Given the description of an element on the screen output the (x, y) to click on. 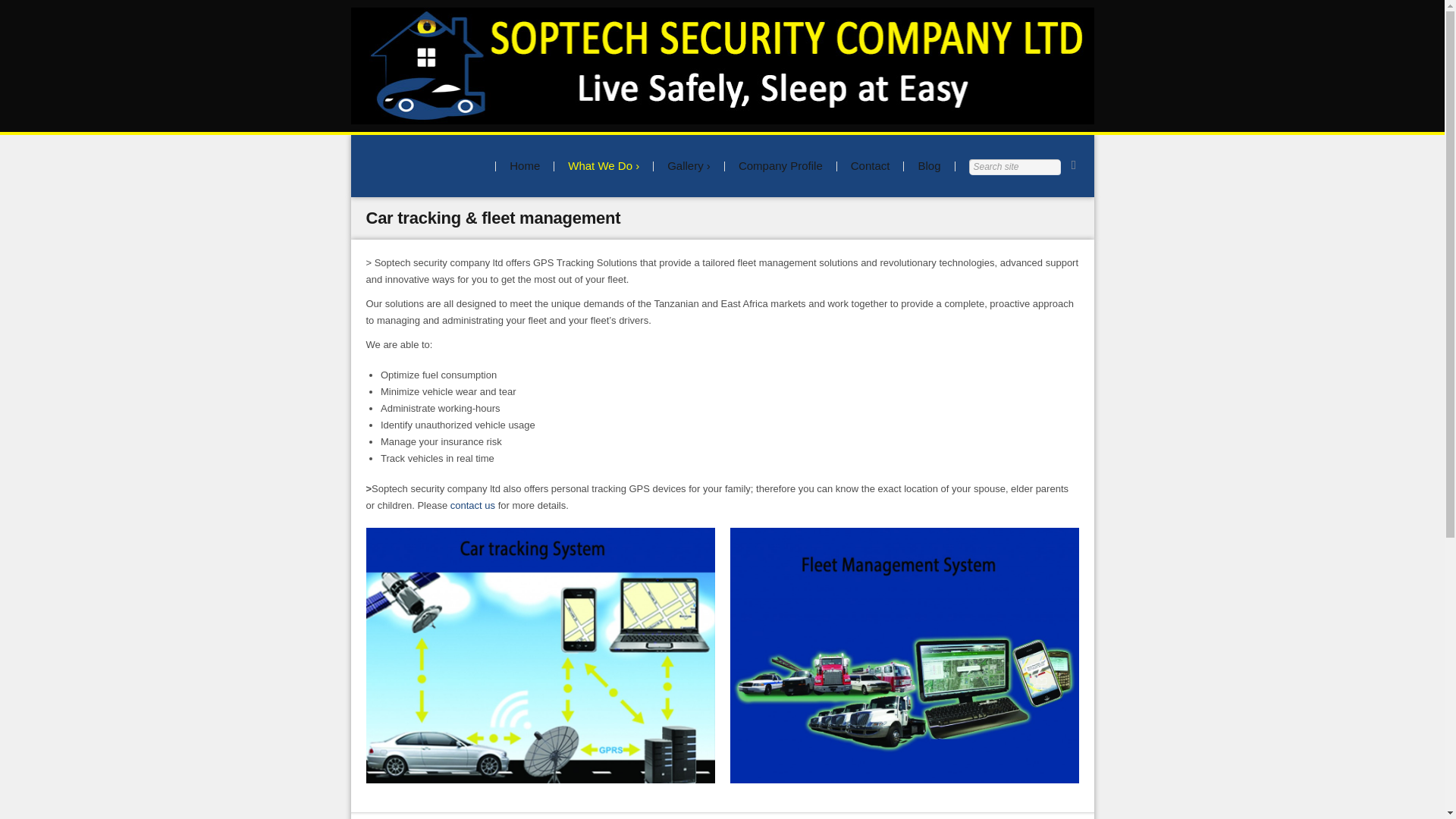
Company Profile (780, 166)
What We Do (603, 166)
Contact (869, 166)
Gallery (688, 166)
Blog (928, 166)
Home (524, 166)
